Given the description of an element on the screen output the (x, y) to click on. 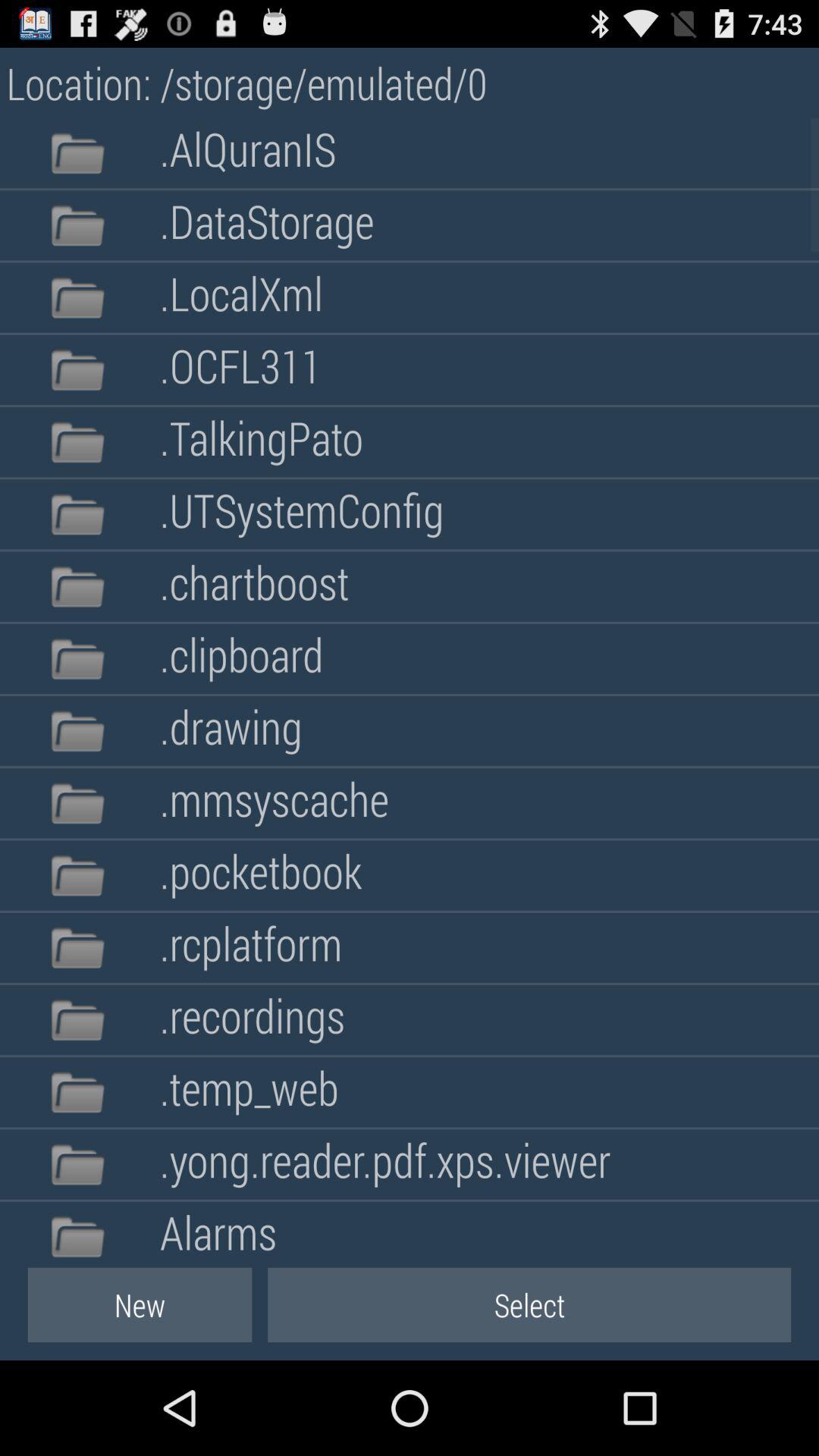
choose the .talkingpato app (261, 442)
